Given the description of an element on the screen output the (x, y) to click on. 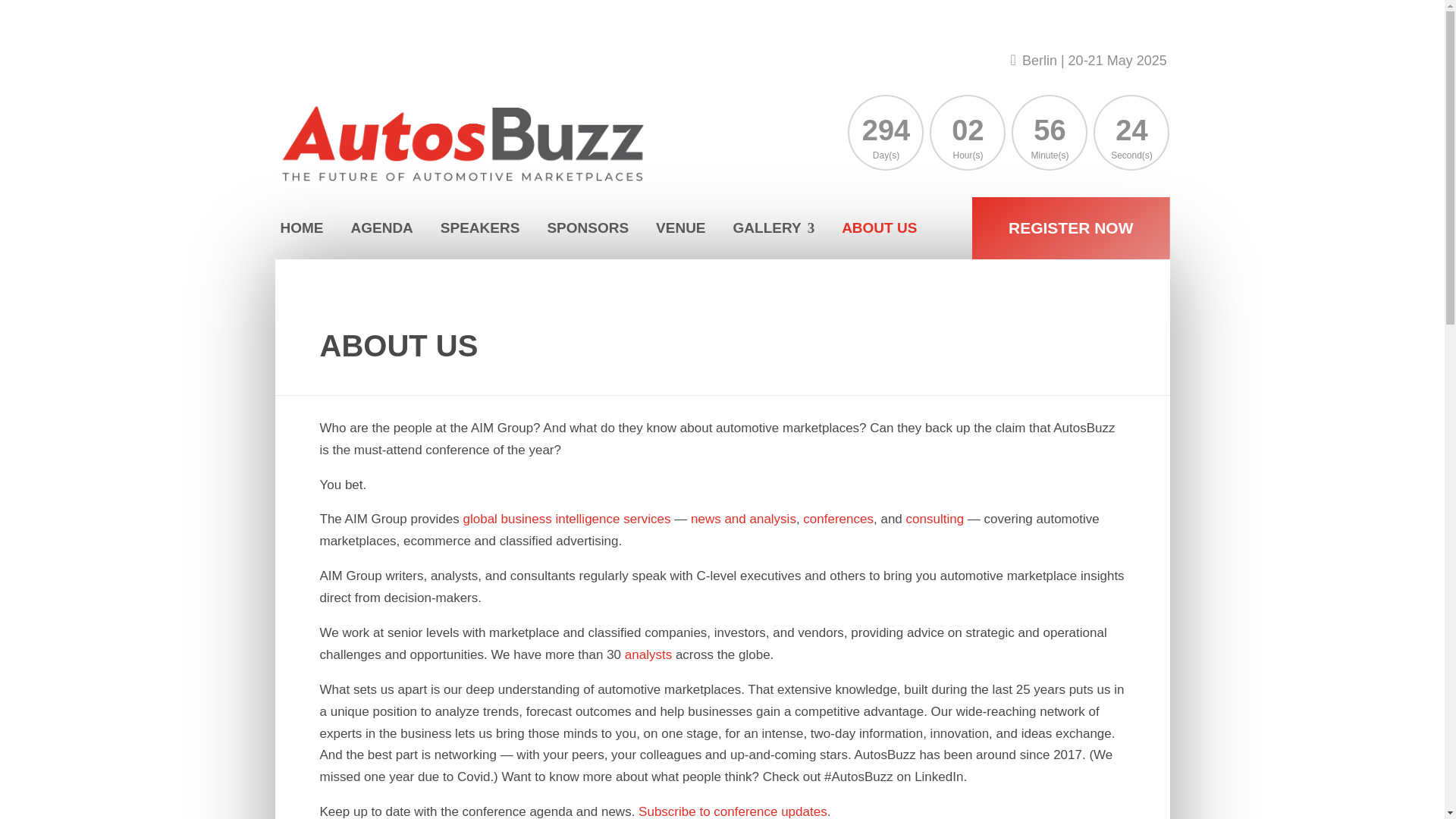
conferences (838, 518)
SPEAKERS (480, 228)
Subscribe to conference updates (733, 811)
AGENDA (381, 228)
consulting (934, 518)
SPONSORS (587, 228)
news and analysis (743, 518)
global business intelligence services (566, 518)
REGISTER NOW (1071, 228)
GALLERY (774, 228)
ABOUT US (879, 228)
analysts (649, 654)
AutosBuzz-Tagline (486, 119)
